Given the description of an element on the screen output the (x, y) to click on. 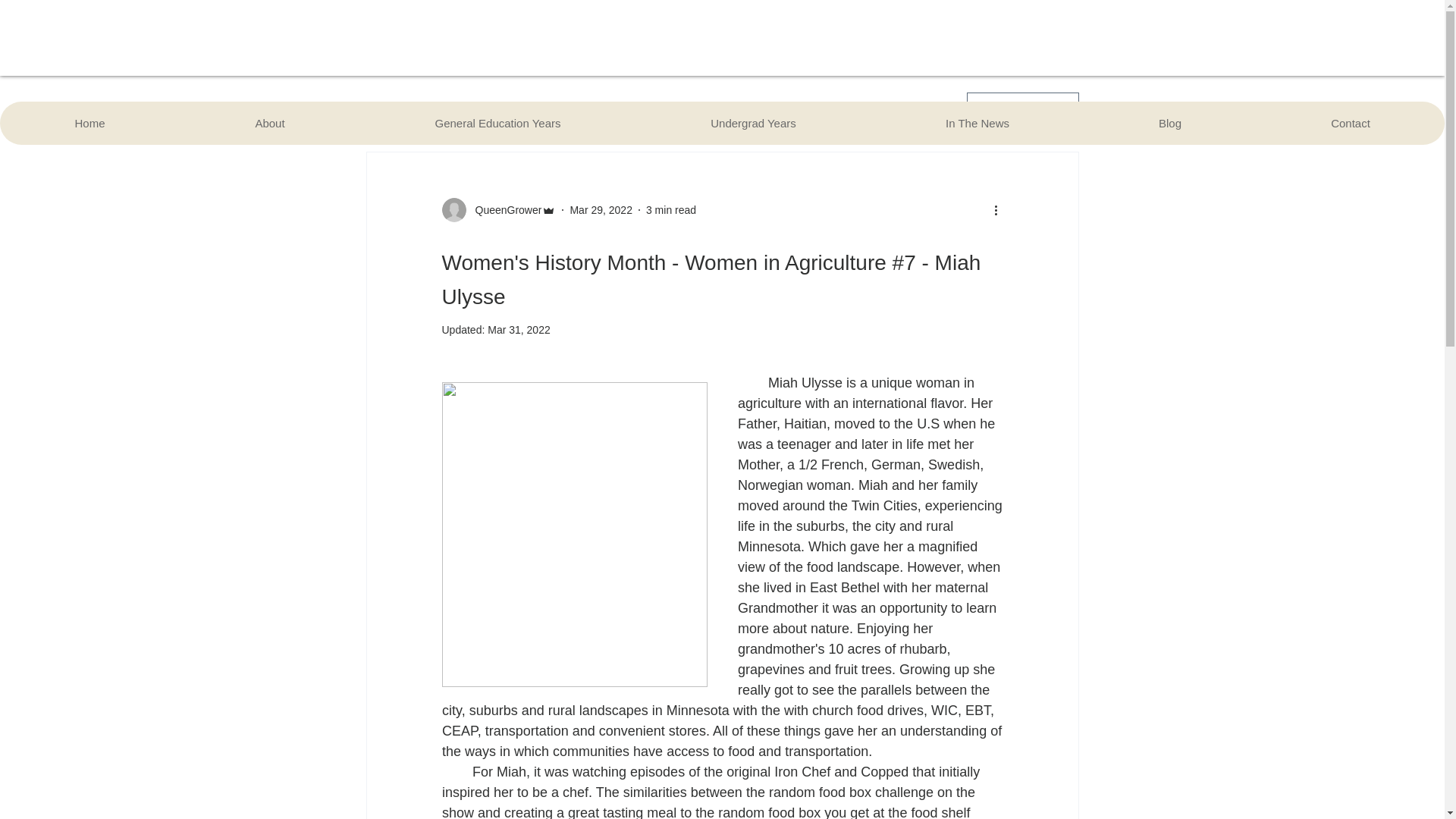
Undergrad Years (752, 122)
3 min read (670, 209)
General Education Years (496, 122)
Mar 31, 2022 (518, 329)
About (269, 122)
Agriculture (599, 106)
In The News (976, 122)
women's history month (490, 106)
Home (89, 122)
Mar 29, 2022 (600, 209)
All Posts (385, 106)
QueenGrower (503, 209)
Women in Agriculture (702, 106)
Community gardens (827, 106)
Blog (1169, 122)
